Given the description of an element on the screen output the (x, y) to click on. 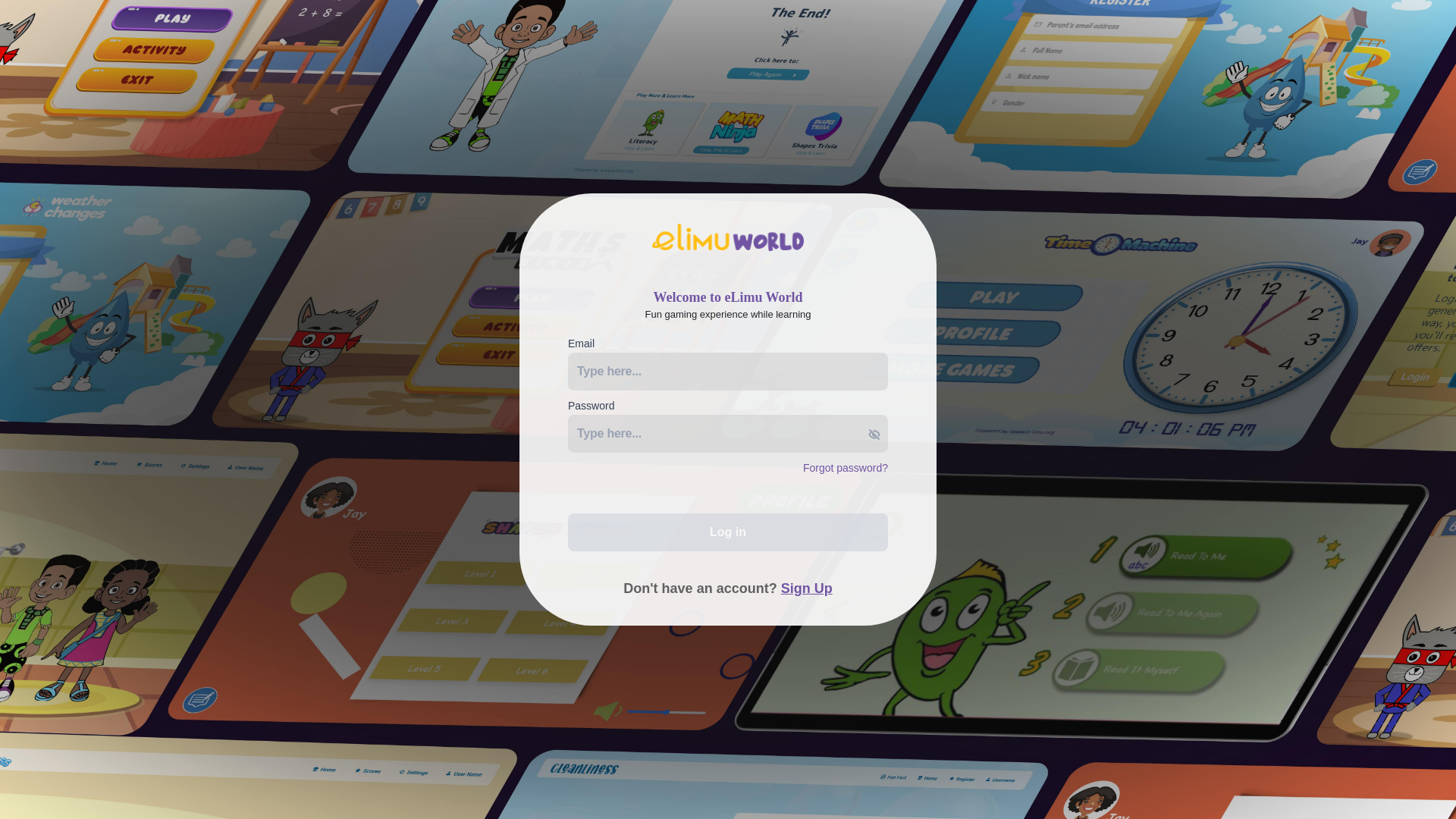
Forgot password? (845, 467)
Log in (727, 532)
Sign Up (806, 588)
